Given the description of an element on the screen output the (x, y) to click on. 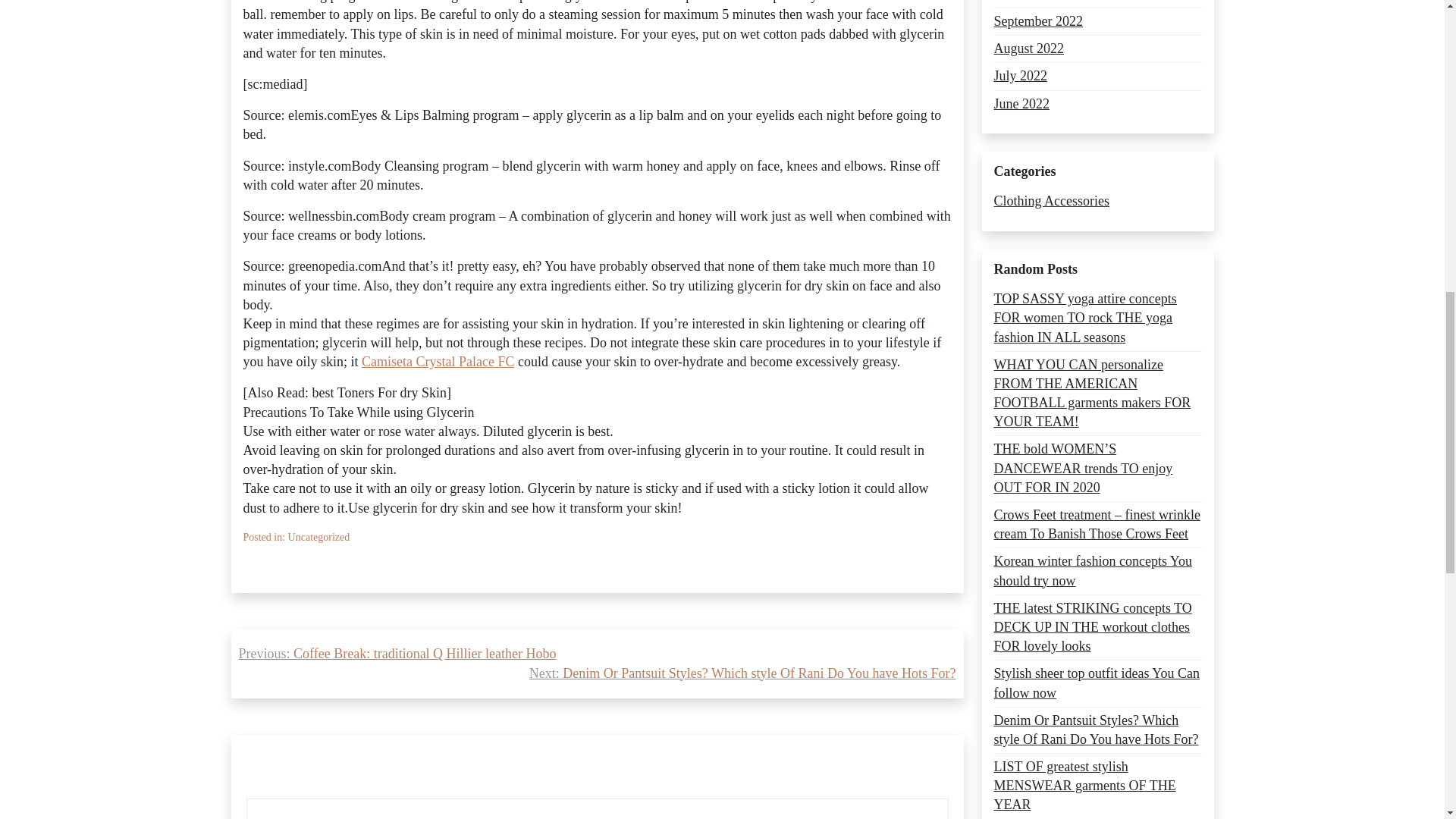
Previous: Coffee Break: traditional Q Hillier leather Hobo (397, 653)
June 2022 (1020, 104)
September 2022 (1036, 21)
Camiseta Crystal Palace FC (437, 361)
August 2022 (1028, 48)
October 2022 (1029, 2)
Stylish sheer top outfit ideas You Can follow now (1096, 682)
July 2022 (1019, 75)
LIST OF greatest stylish MENSWEAR garments OF THE YEAR (1096, 785)
Clothing Accessories (1050, 200)
